Given the description of an element on the screen output the (x, y) to click on. 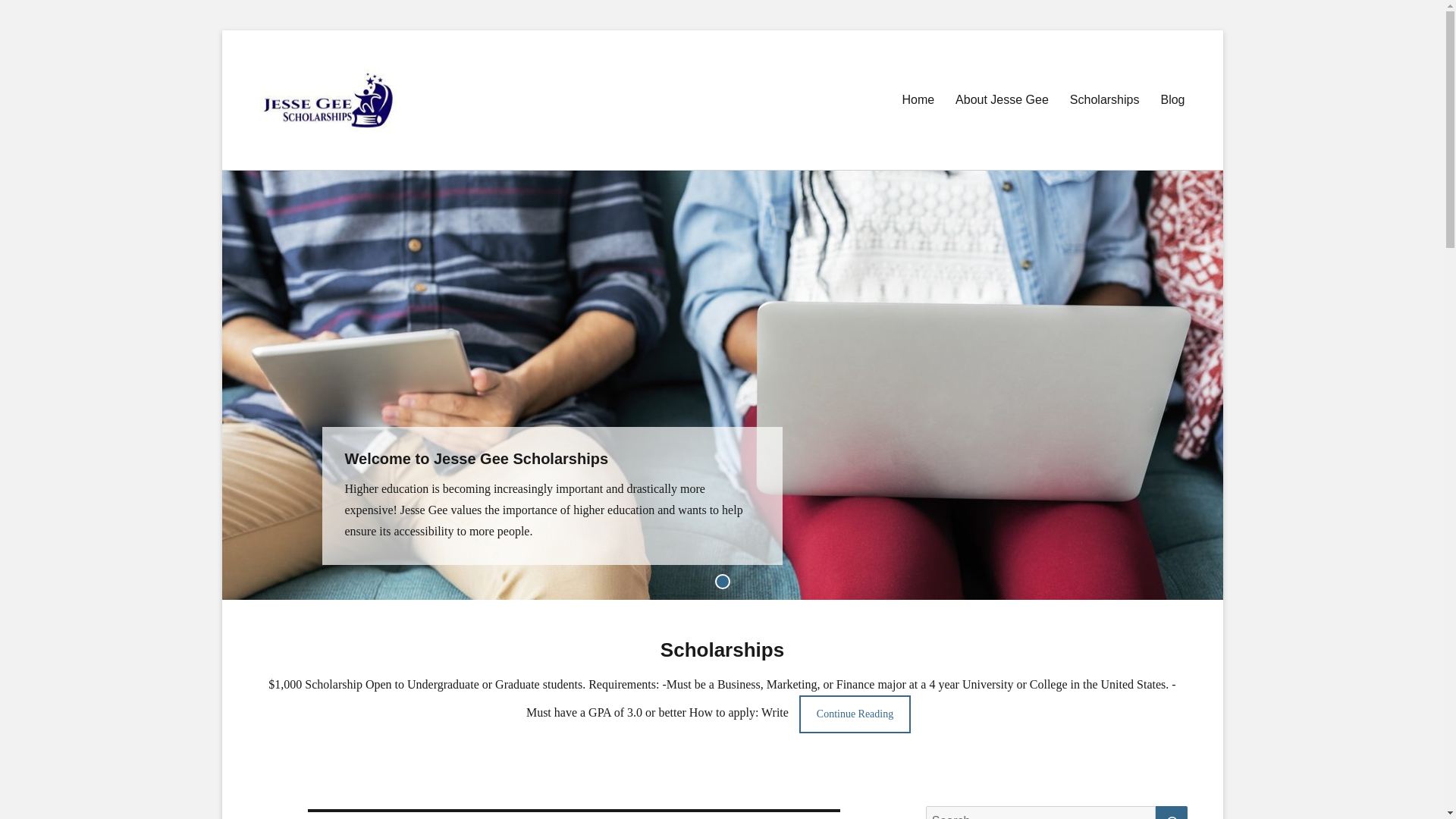
About Jesse Gee (1001, 100)
Jesse Gee Scholarships (320, 102)
Home (917, 100)
Welcome to Jesse Gee Scholarships (475, 458)
Welcome to Jesse Gee Scholarships (475, 458)
Welcome to Jesse Gee Scholarships (722, 382)
Scholarships (1104, 100)
Continue Reading (855, 713)
Blog (1172, 100)
